Given the description of an element on the screen output the (x, y) to click on. 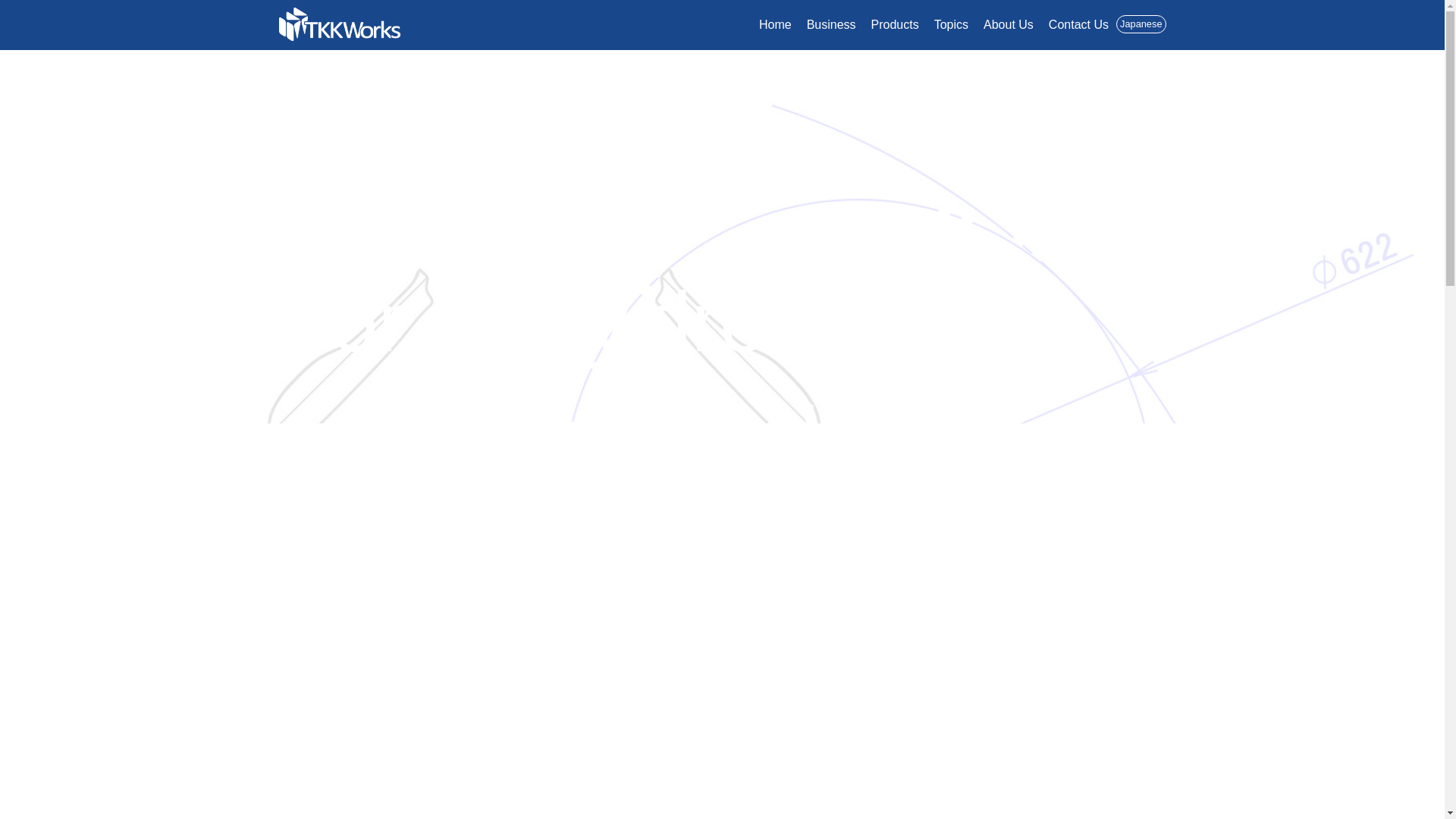
Business (831, 24)
Contact Us (1078, 24)
Products (894, 24)
Japanese (1141, 24)
About Us (1008, 24)
Home (775, 24)
Topics (950, 24)
